Given the description of an element on the screen output the (x, y) to click on. 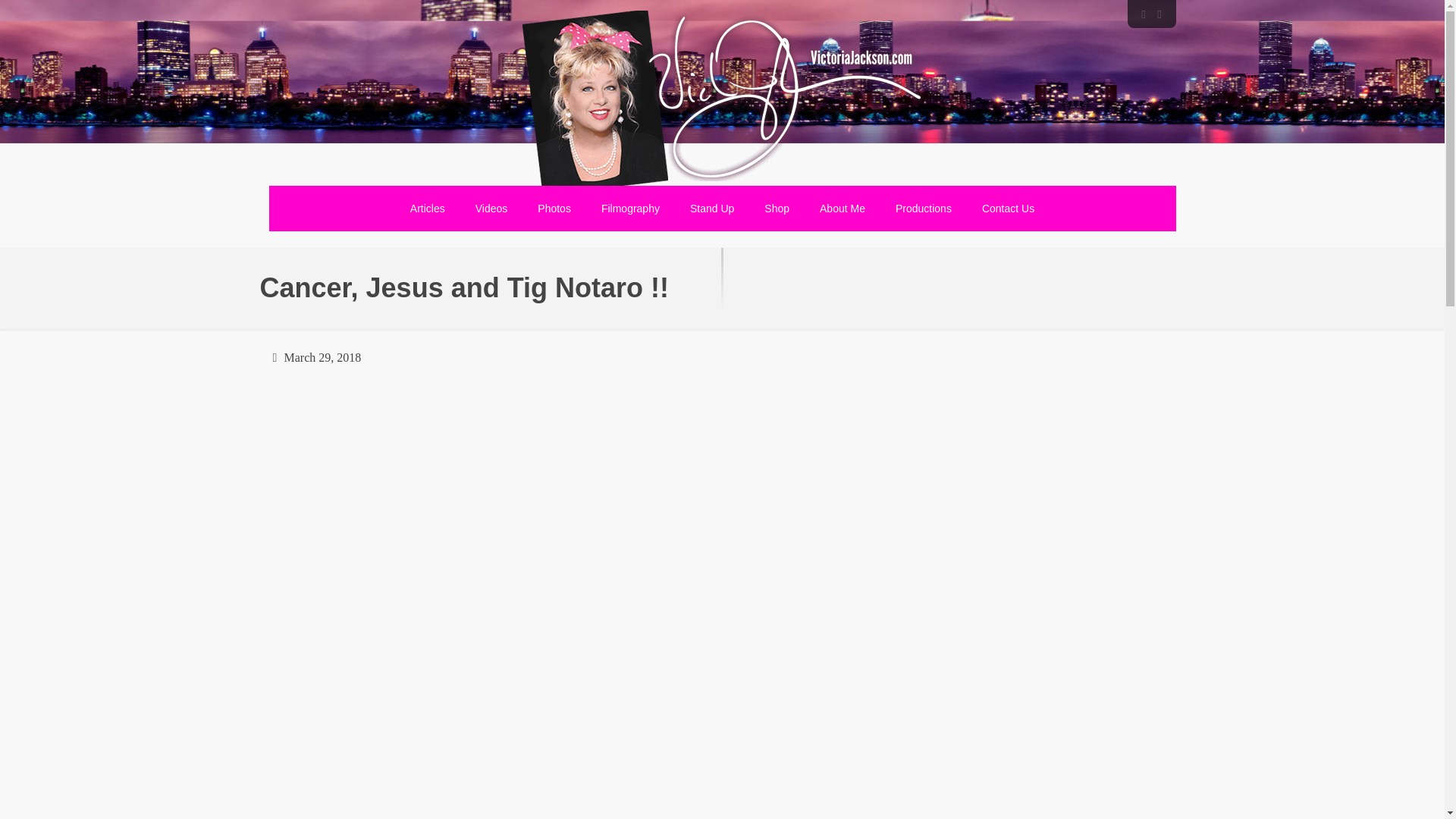
Shop (777, 207)
Facebook (1142, 14)
Contact Us (1007, 207)
About Me (842, 207)
Victoria Jackson (721, 104)
Filmography (630, 207)
Videos (491, 207)
Articles (427, 207)
Productions (923, 207)
Stand Up (712, 207)
